Given the description of an element on the screen output the (x, y) to click on. 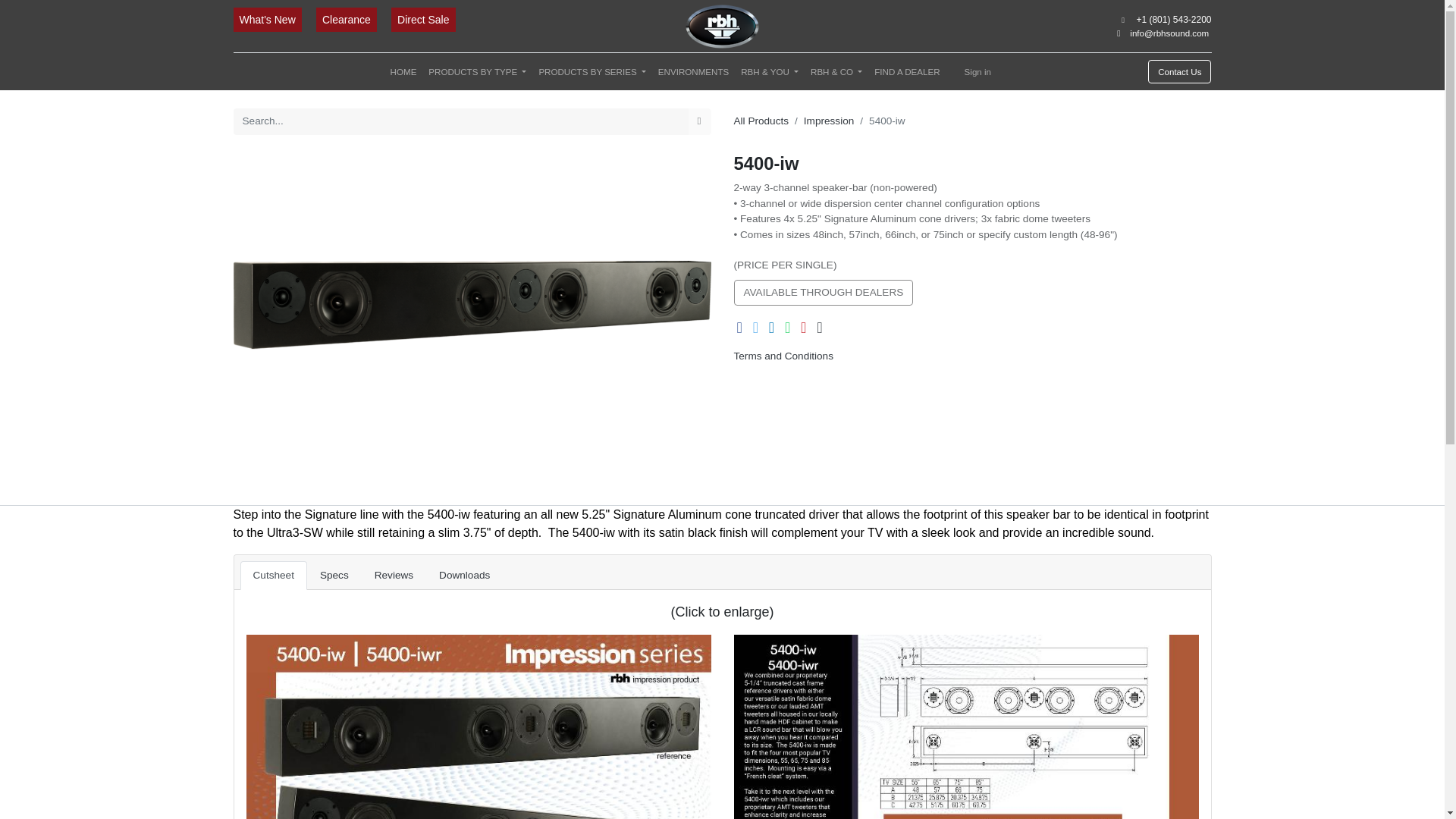
ENVIRONMENTS (693, 71)
What's New (268, 20)
Direct Sale (422, 20)
Search (699, 121)
PRODUCTS BY TYPE (477, 71)
RBH Sound (722, 25)
Clearance (346, 20)
HOME (403, 71)
PRODUCTS BY SERIES (591, 71)
